Given the description of an element on the screen output the (x, y) to click on. 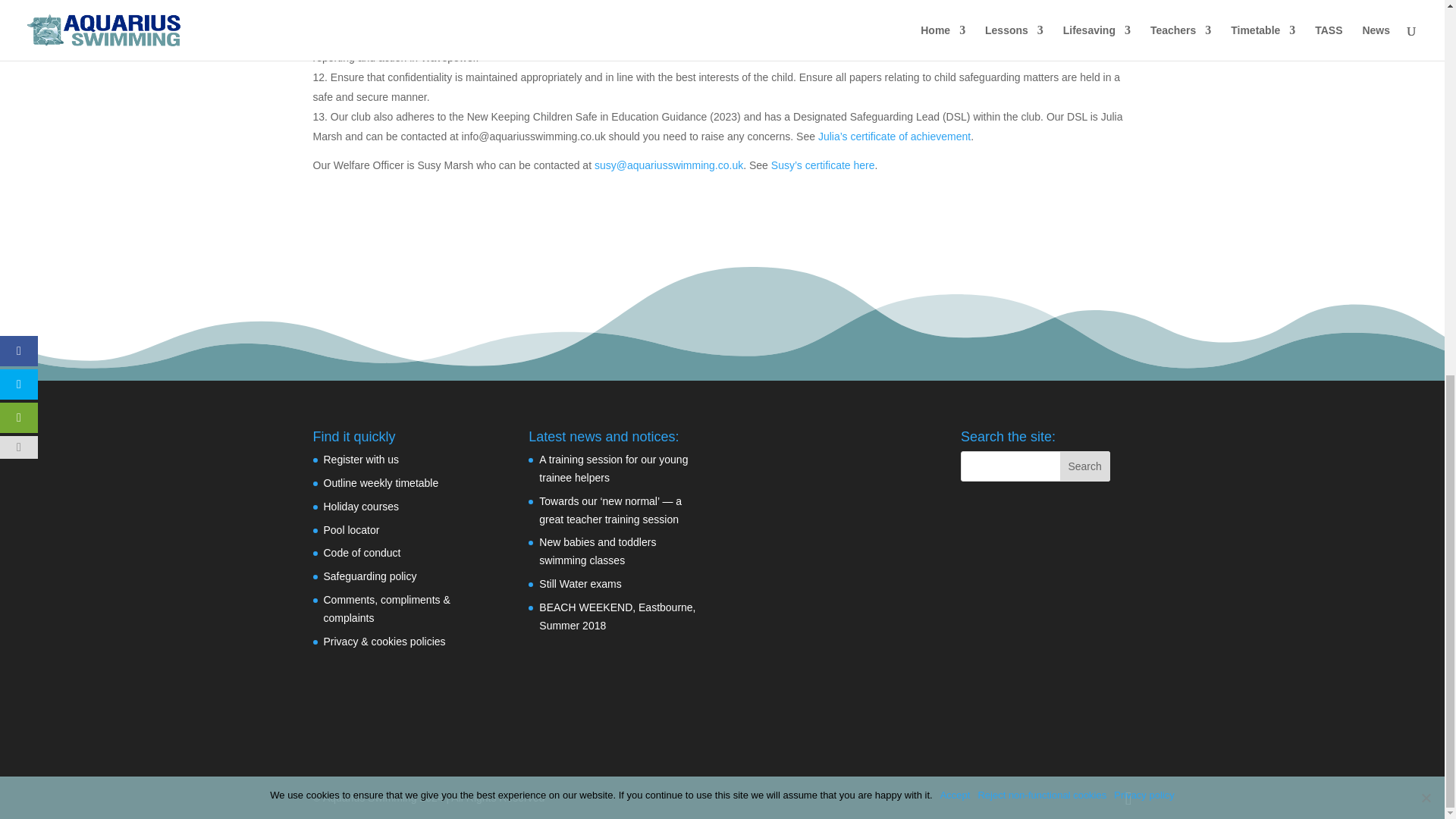
Reject non-functional cookies (1425, 109)
Search (1084, 466)
Register with us (360, 459)
